Given the description of an element on the screen output the (x, y) to click on. 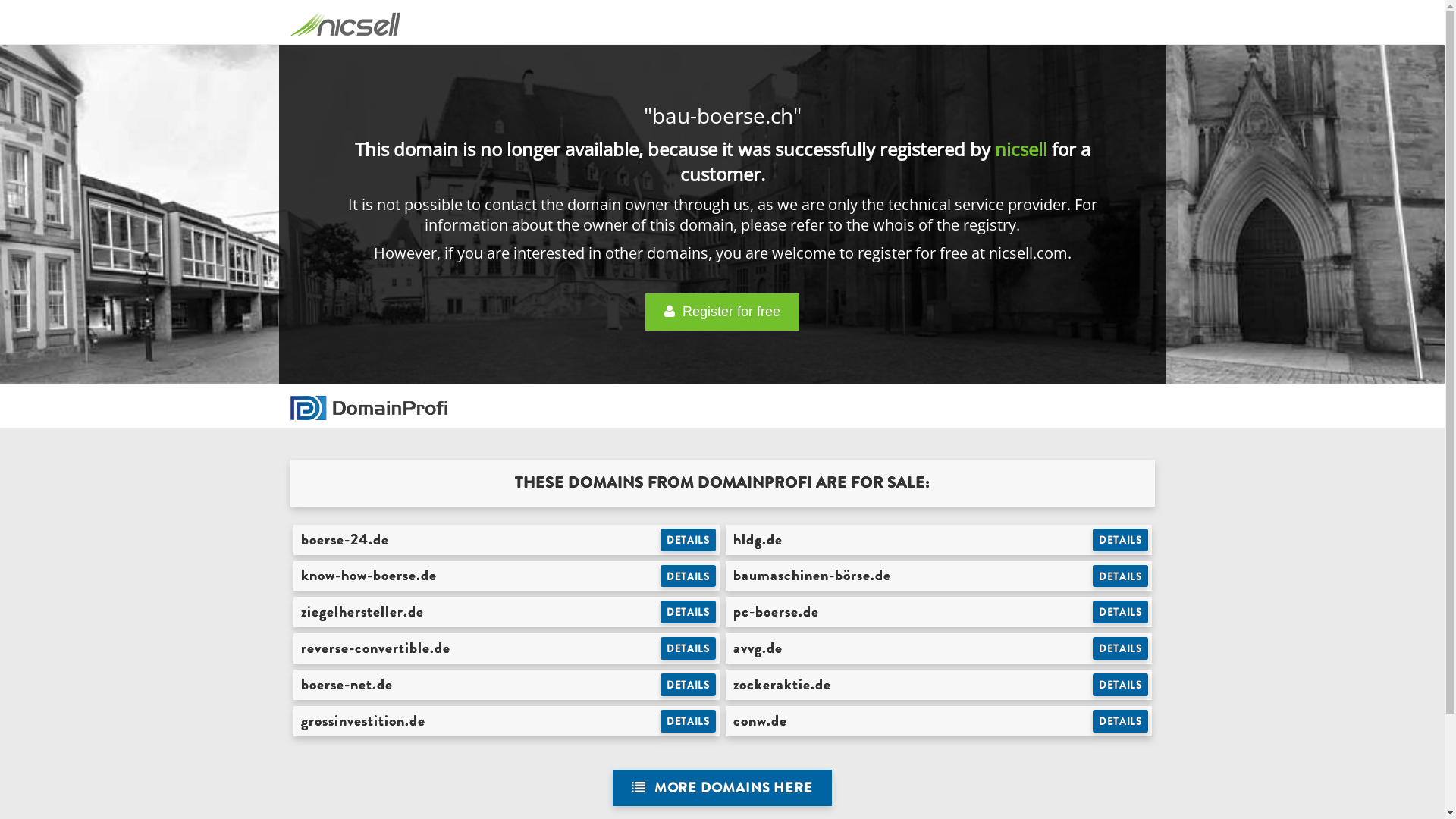
DETAILS Element type: text (1120, 611)
DETAILS Element type: text (687, 611)
  MORE DOMAINS HERE Element type: text (721, 787)
  Register for free Element type: text (722, 311)
DETAILS Element type: text (687, 575)
DETAILS Element type: text (1120, 720)
DETAILS Element type: text (1120, 575)
DETAILS Element type: text (1120, 539)
nicsell Element type: text (1020, 148)
DETAILS Element type: text (687, 648)
DETAILS Element type: text (687, 684)
DETAILS Element type: text (1120, 648)
DETAILS Element type: text (687, 539)
DETAILS Element type: text (1120, 684)
DETAILS Element type: text (687, 720)
